Given the description of an element on the screen output the (x, y) to click on. 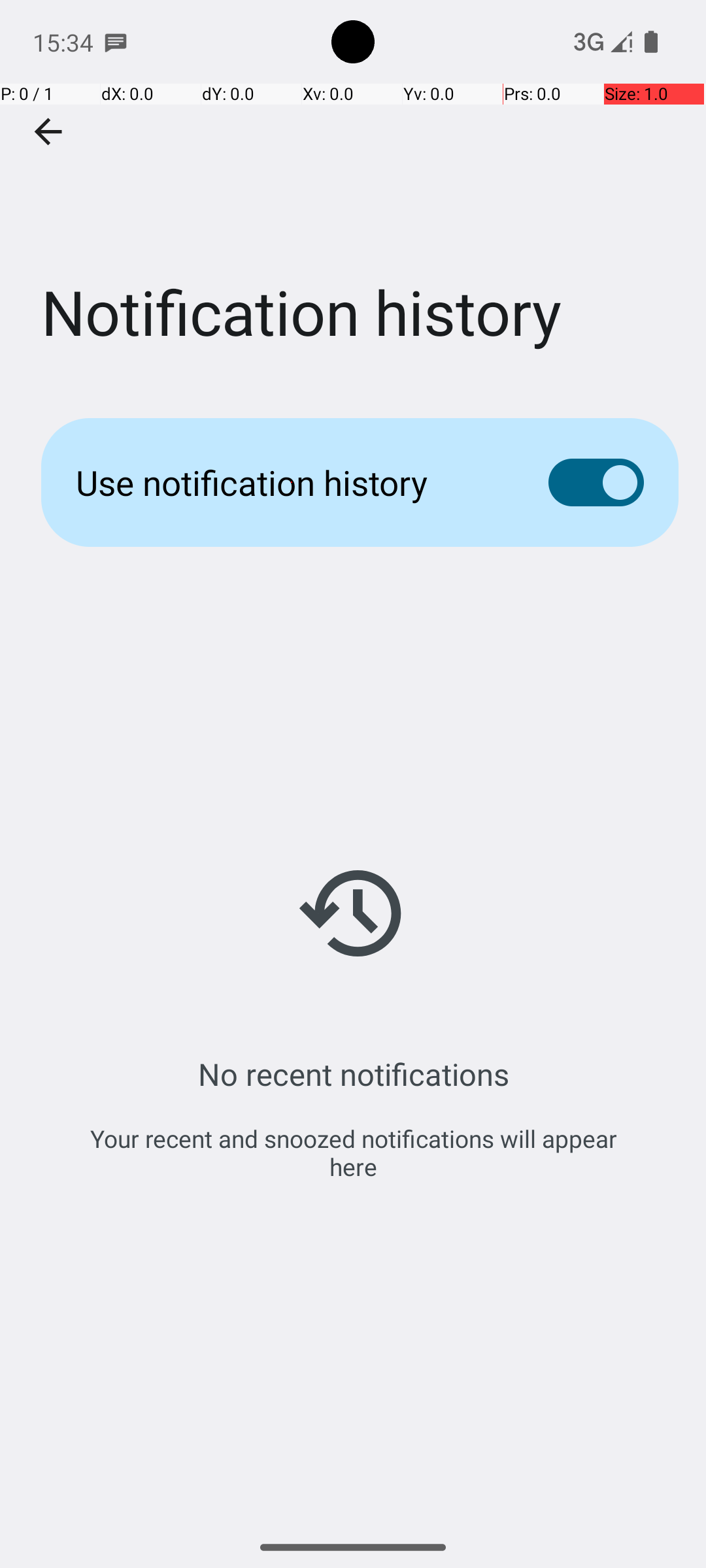
No recent notifications Element type: android.widget.TextView (352, 1073)
Your recent and snoozed notifications will appear here Element type: android.widget.TextView (352, 1152)
